Given the description of an element on the screen output the (x, y) to click on. 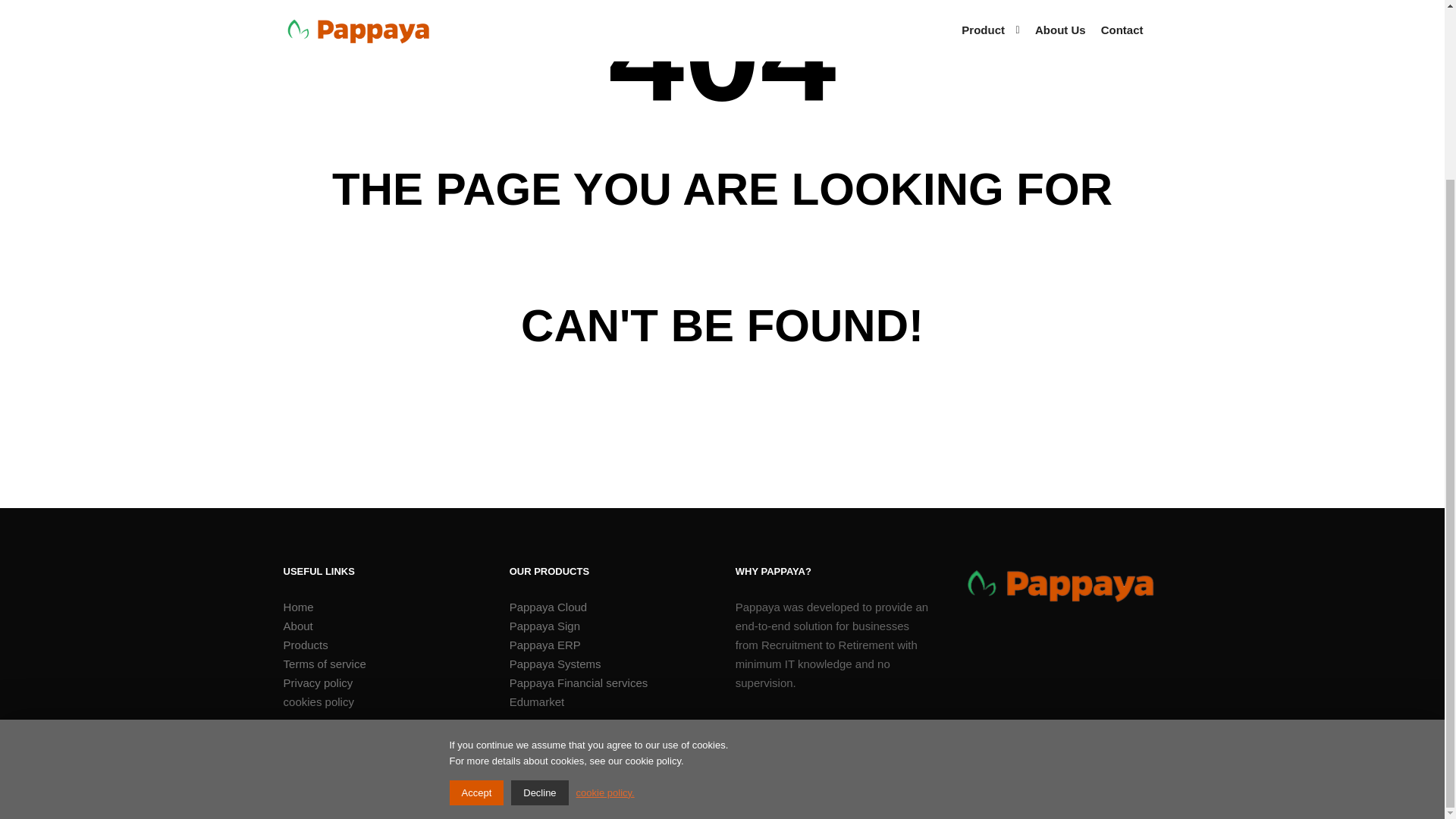
Home (382, 606)
Pappaya ERP (608, 644)
Designed by pappaya incorpration (368, 797)
Terms of service (382, 663)
cookies policy (382, 701)
Edumarket (608, 701)
Pappaya Financial services (608, 682)
Pappaya Systems (608, 663)
Privacy policy (382, 682)
About (382, 625)
Pappaya Cloud (608, 606)
Pappaya Sign (608, 625)
Products (382, 644)
cookie policy. (605, 573)
Decline (539, 573)
